Given the description of an element on the screen output the (x, y) to click on. 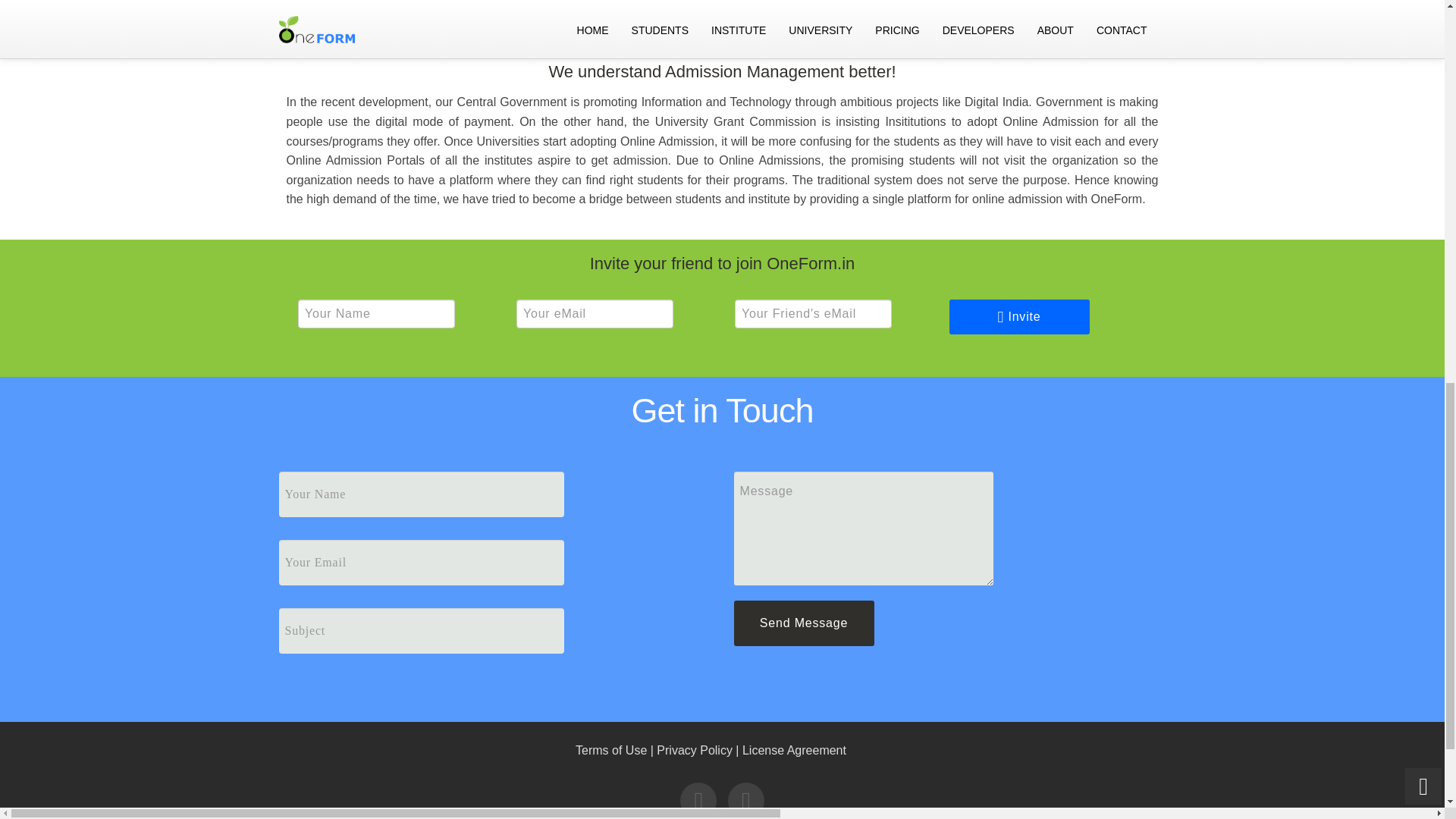
Send Message (804, 623)
License Agreement (793, 749)
Privacy Policy (694, 749)
Send Message (804, 623)
Terms of Use (610, 749)
Invite (1019, 316)
